Given the description of an element on the screen output the (x, y) to click on. 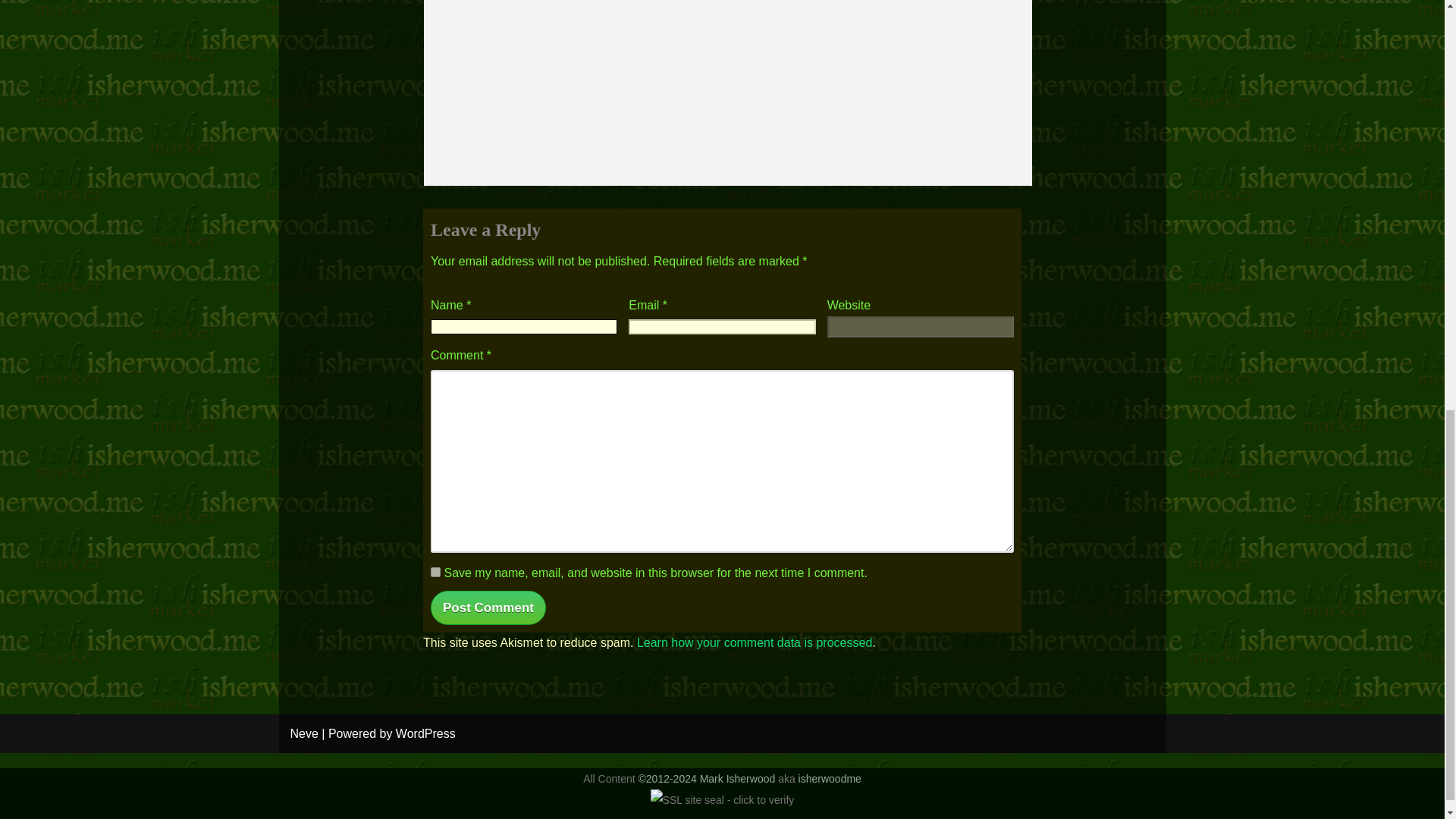
Learn how your comment data is processed (754, 642)
WordPress (425, 733)
yes (435, 572)
Post Comment (488, 607)
Post Comment (488, 607)
Neve (303, 733)
